Given the description of an element on the screen output the (x, y) to click on. 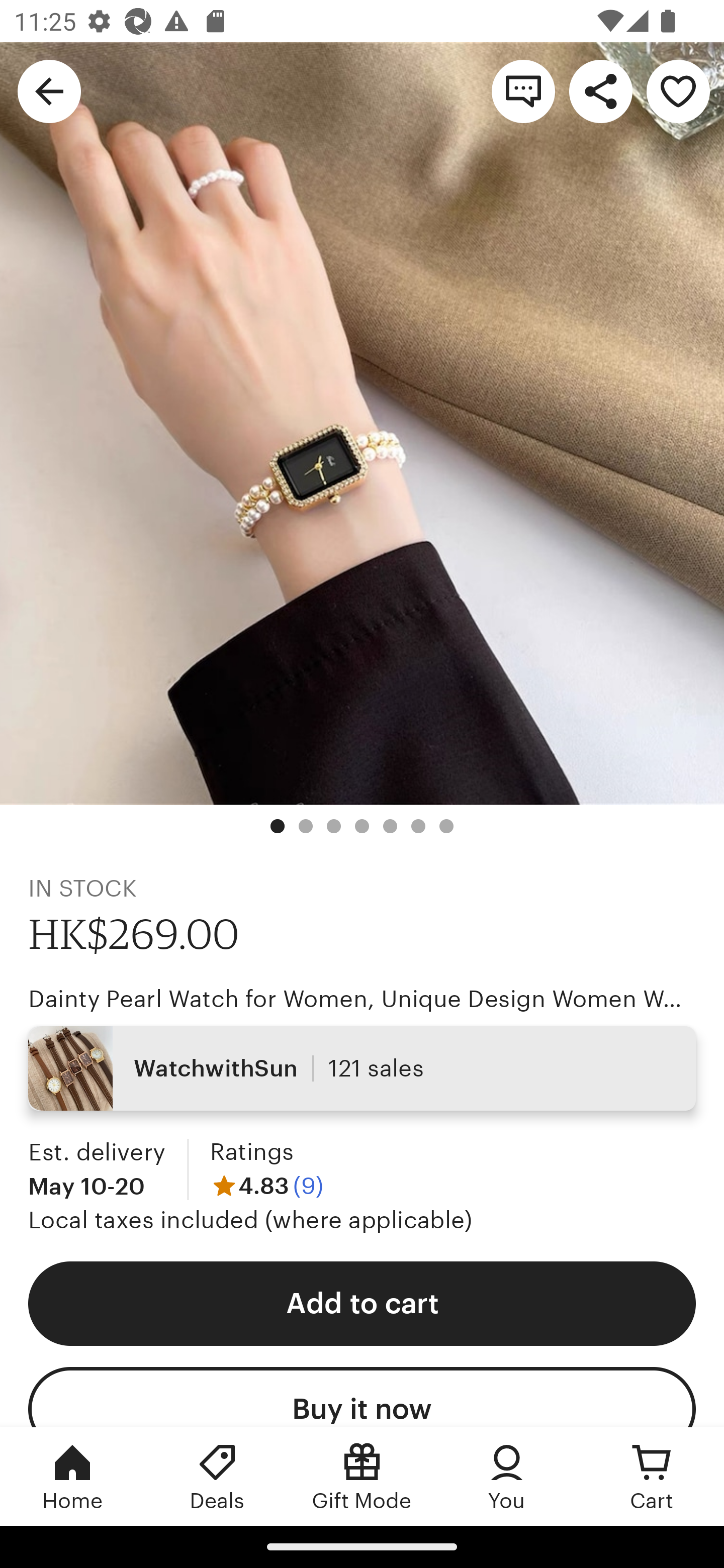
Navigate up (49, 90)
Contact shop (523, 90)
Share (600, 90)
WatchwithSun 121 sales (361, 1067)
Ratings (251, 1151)
4.83 (9) (266, 1185)
Add to cart (361, 1302)
Buy it now (361, 1396)
Deals (216, 1475)
Gift Mode (361, 1475)
You (506, 1475)
Cart (651, 1475)
